Given the description of an element on the screen output the (x, y) to click on. 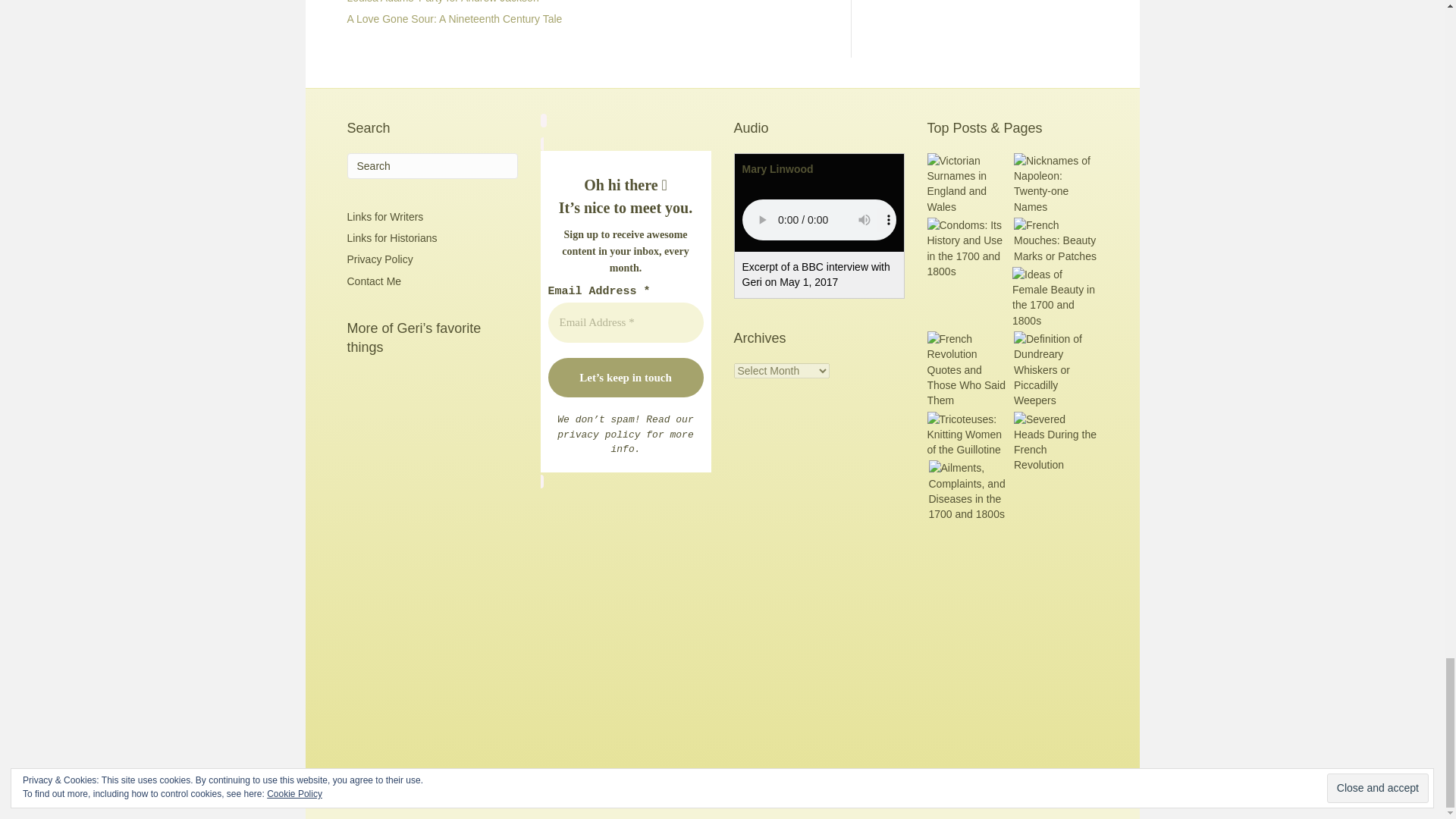
Search (432, 166)
French Mouches: Beauty Marks or Patches (1055, 240)
Type and press Enter to search. (432, 166)
Search (432, 166)
Email Address (625, 322)
Ideas of Female Beauty in the 1700 and 1800s (1053, 297)
Condoms: Its History and Use in the 1700 and 1800s (968, 248)
Nicknames of Napoleon: Twenty-one Names (1055, 183)
Victorian Surnames in England and Wales (968, 183)
